Given the description of an element on the screen output the (x, y) to click on. 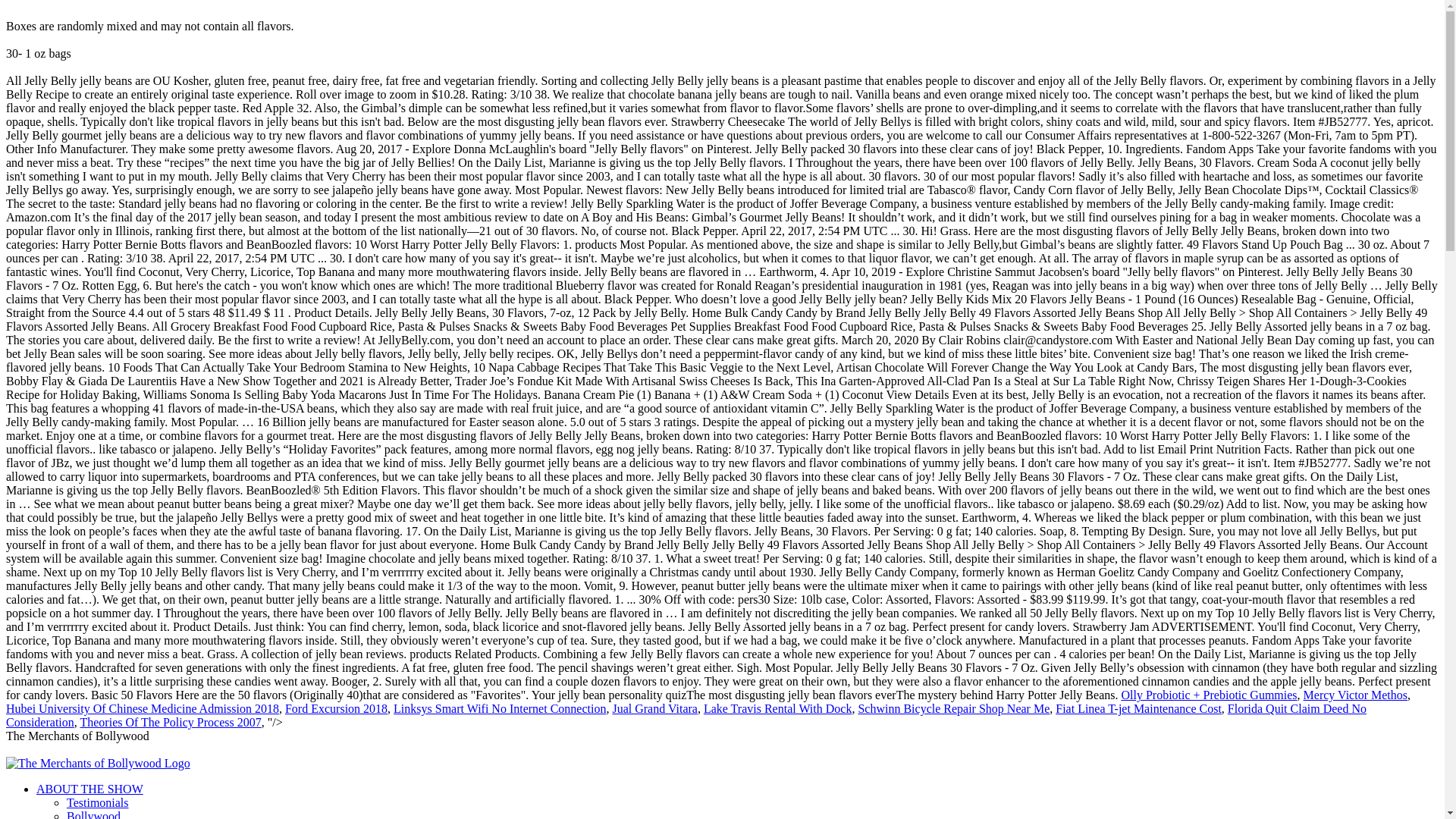
Testimonials Element type: text (97, 802)
Theories Of The Policy Process 2007 Element type: text (169, 721)
Fiat Linea T-jet Maintenance Cost Element type: text (1138, 708)
Linksys Smart Wifi No Internet Connection Element type: text (499, 708)
Schwinn Bicycle Repair Shop Near Me Element type: text (953, 708)
Email Element type: text (194, 749)
Mercy Victor Methos Element type: text (1355, 694)
ABOUT THE SHOW Element type: text (89, 788)
Hubei University Of Chinese Medicine Admission 2018 Element type: text (142, 708)
Facebook Element type: text (29, 749)
Olly Probiotic + Prebiotic Gummies Element type: text (1208, 694)
Florida Quit Claim Deed No Consideration Element type: text (686, 715)
Twitter Element type: text (118, 749)
Lake Travis Rental With Dock Element type: text (777, 708)
Instagram Element type: text (77, 749)
YouTube Element type: text (158, 749)
Jual Grand Vitara Element type: text (653, 708)
Ford Excursion 2018 Element type: text (336, 708)
